Given the description of an element on the screen output the (x, y) to click on. 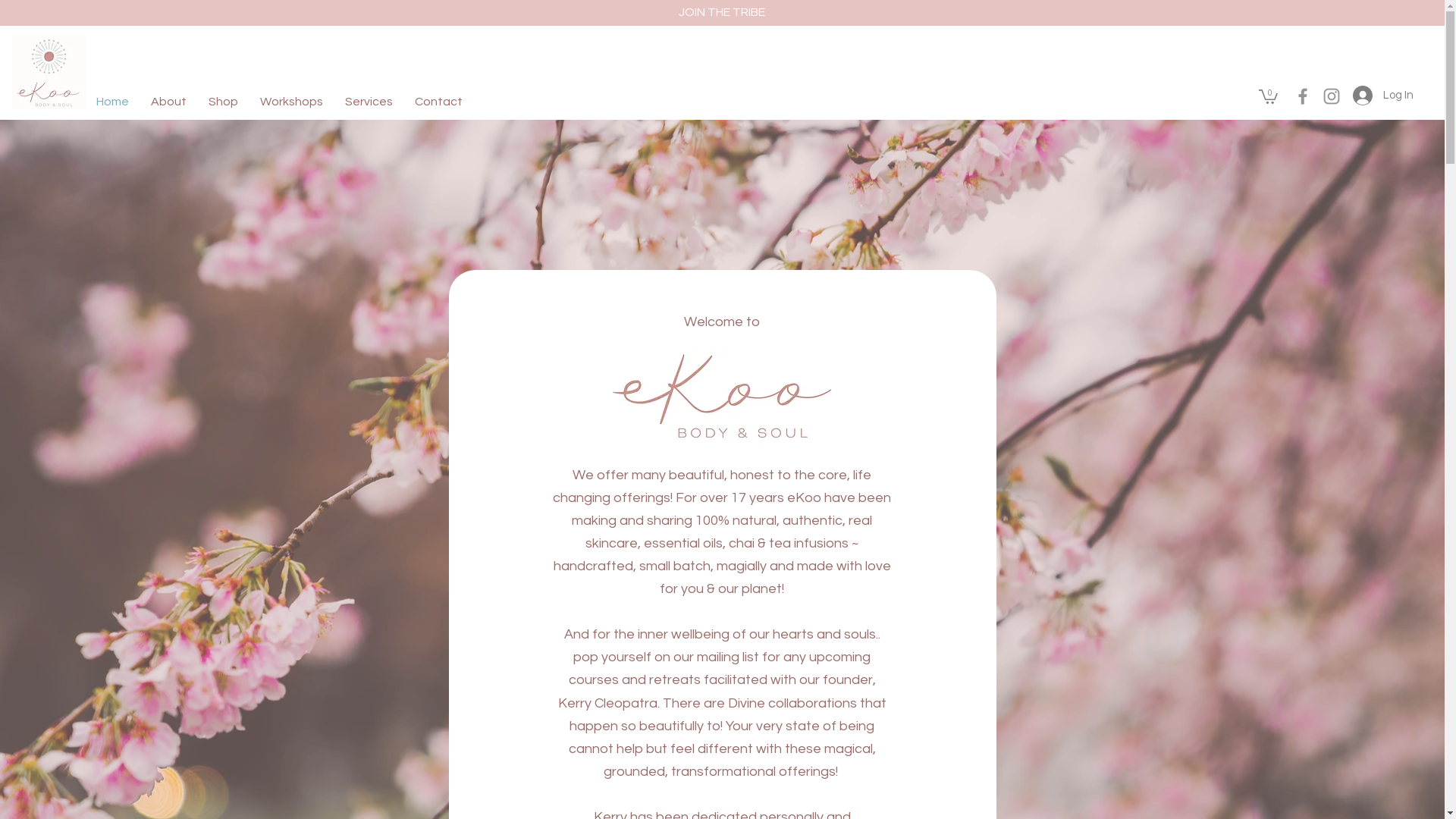
Workshops Element type: text (295, 101)
0 Element type: text (1267, 95)
Home Element type: text (116, 101)
About Element type: text (172, 101)
Shop Element type: text (227, 101)
Services Element type: text (372, 101)
Log In Element type: text (1378, 95)
Contact Element type: text (442, 101)
eKoo organics by Kerry Cleopatra Element type: hover (48, 71)
JOIN THE TRIBE Element type: text (721, 12)
